Given the description of an element on the screen output the (x, y) to click on. 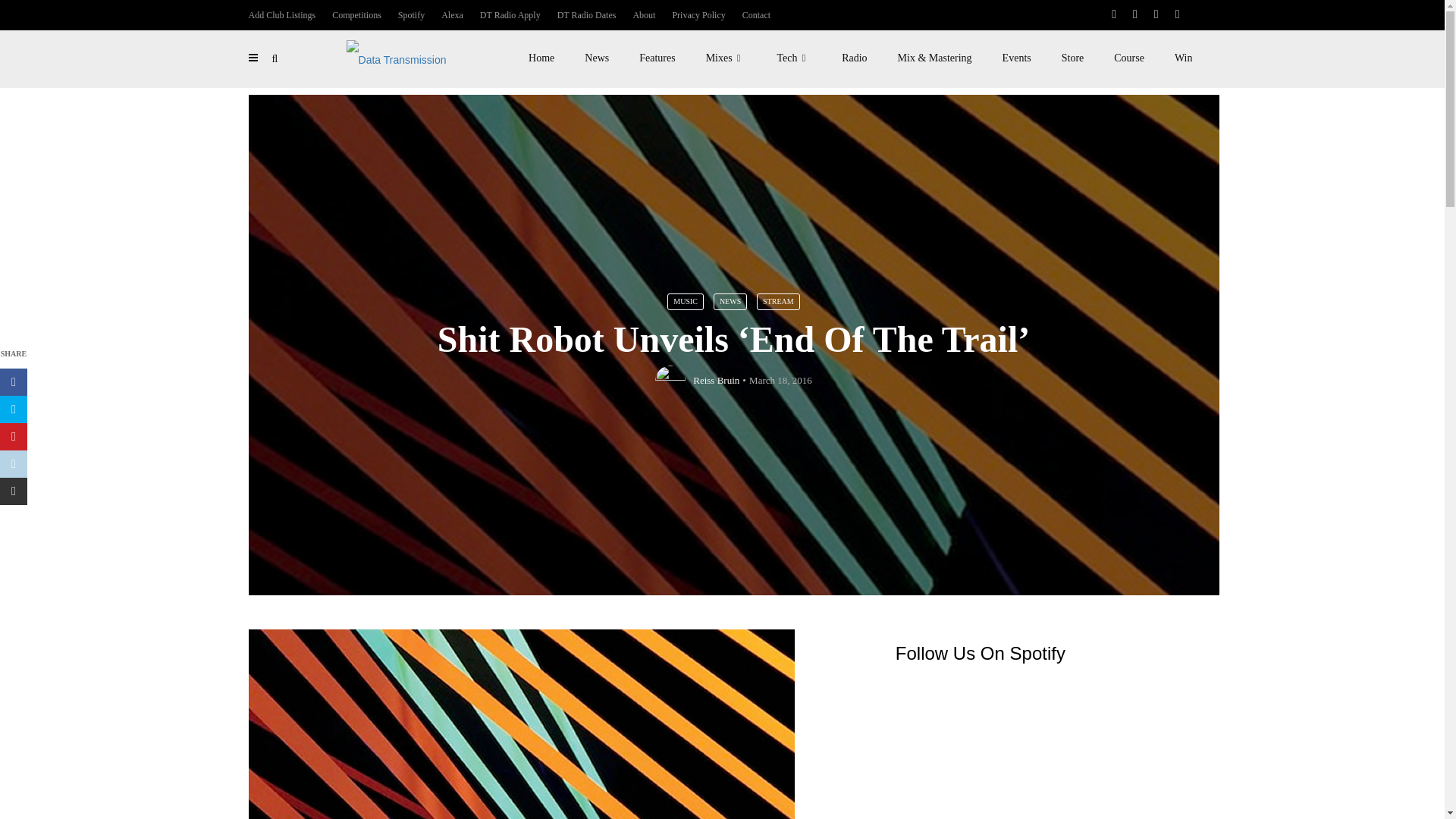
Store (1072, 57)
Radio (854, 57)
Mixes (725, 57)
Spotify Embed: New Music Friday (1045, 749)
Tech (794, 57)
Events (1016, 57)
Features (657, 57)
Course (1128, 57)
News (596, 57)
Home (541, 57)
